Given the description of an element on the screen output the (x, y) to click on. 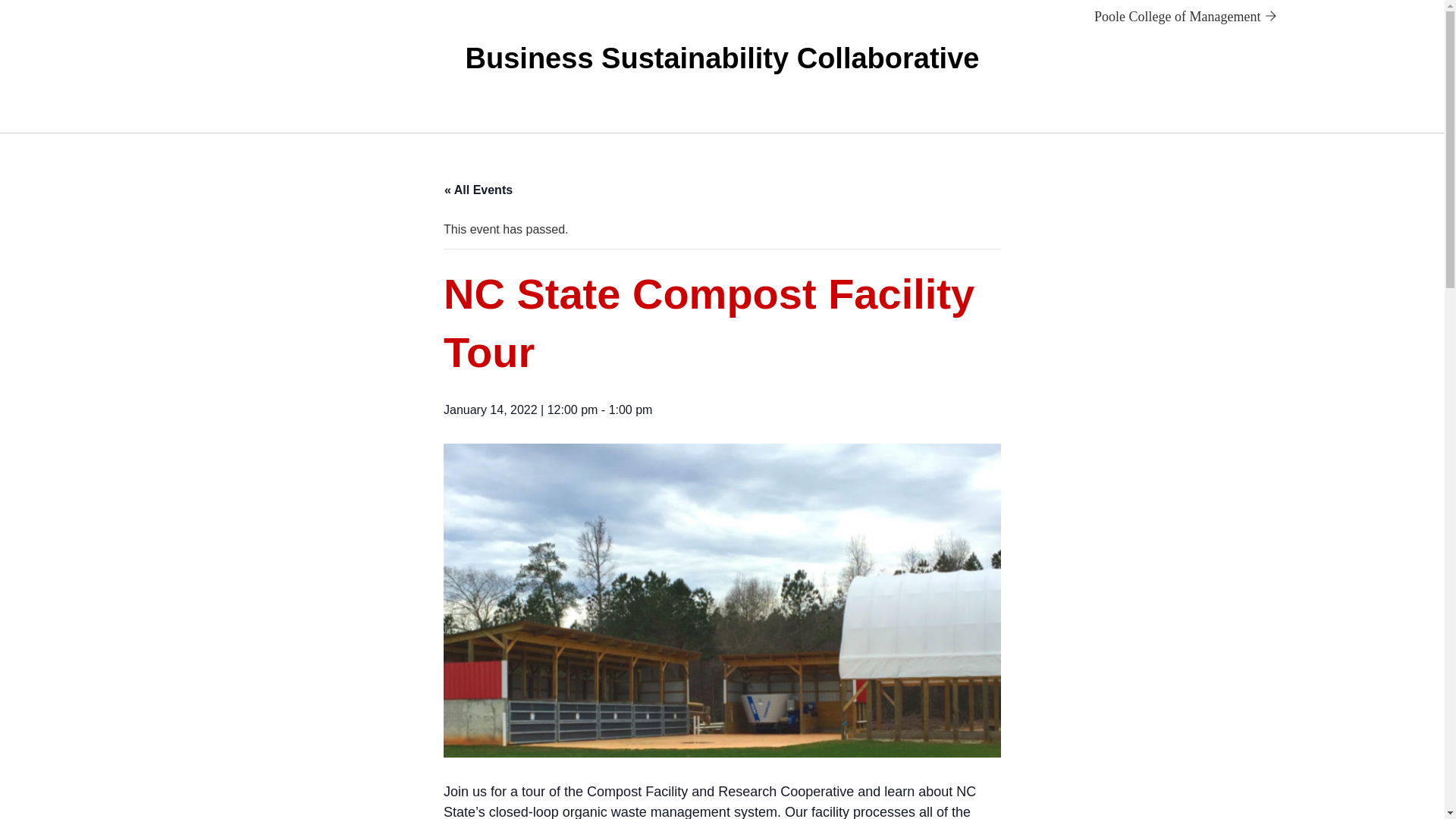
Business Sustainability Collaborative (722, 58)
Poole College of Management (1185, 16)
